Given the description of an element on the screen output the (x, y) to click on. 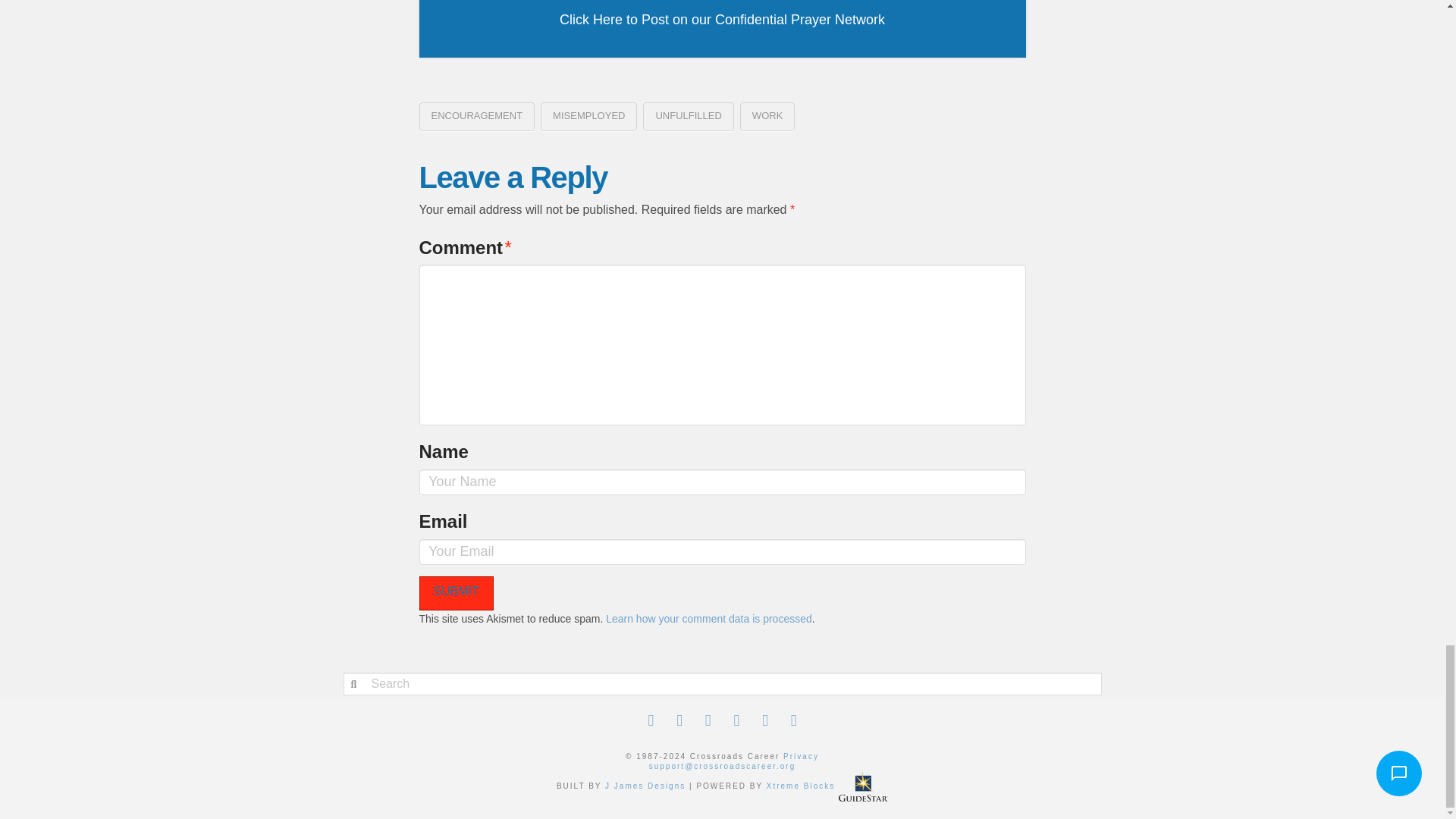
Submit (456, 593)
